Given the description of an element on the screen output the (x, y) to click on. 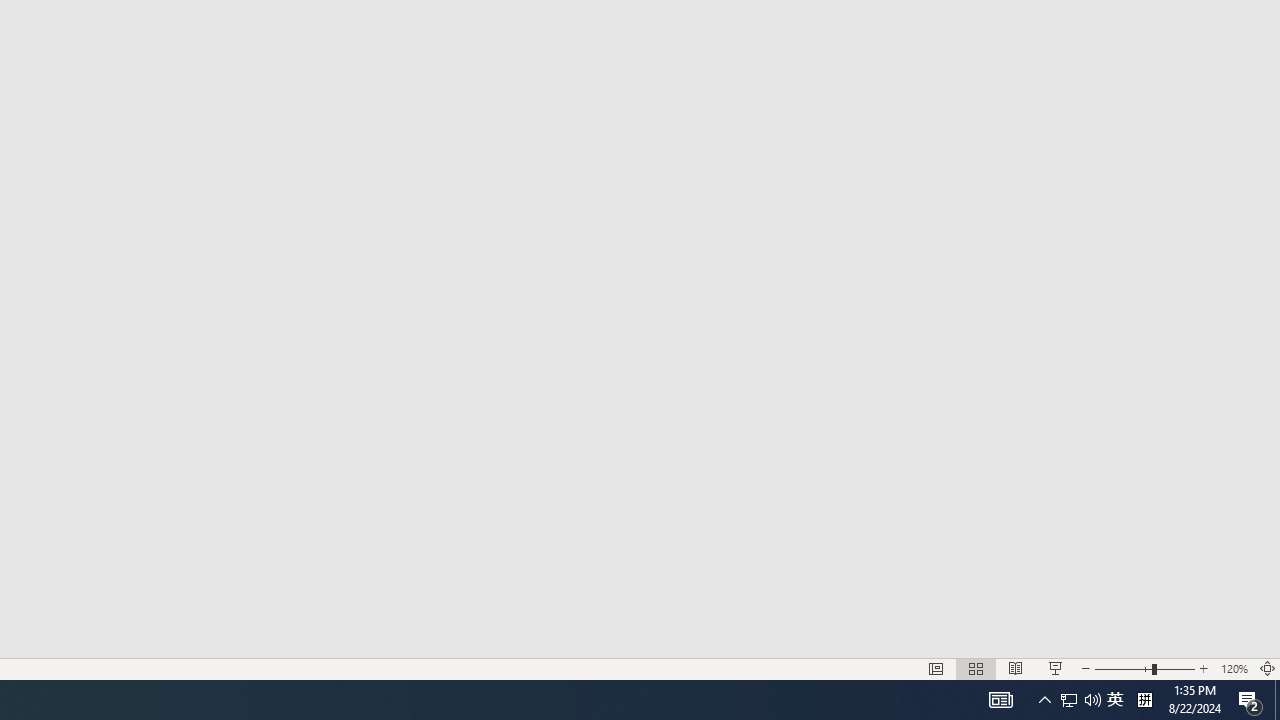
Zoom 120% (1234, 668)
